Given the description of an element on the screen output the (x, y) to click on. 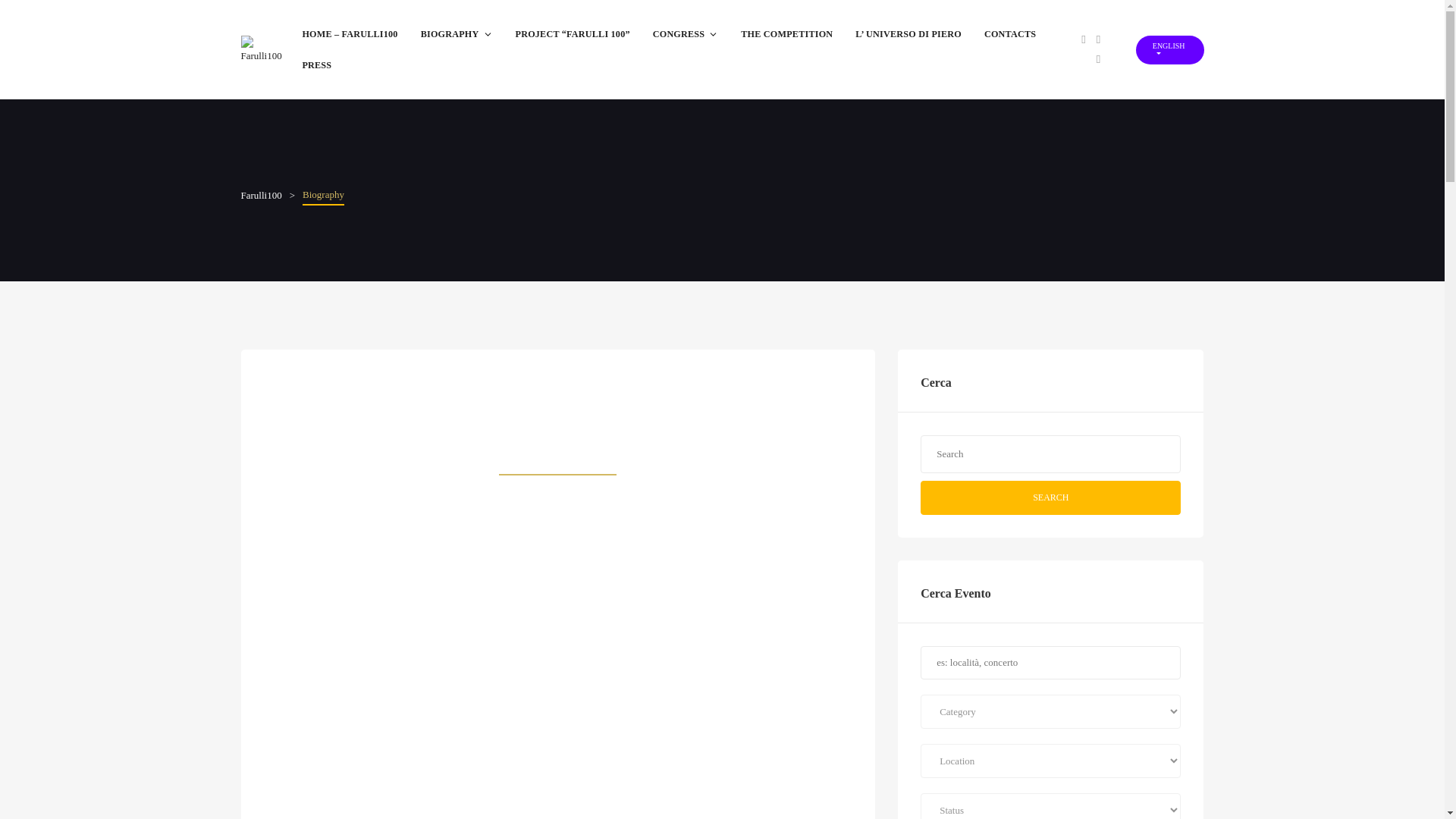
BIOGRAPHY (456, 33)
PRESS (315, 65)
THE COMPETITION (786, 33)
CONGRESS (686, 33)
CONTACTS (1009, 33)
Go to Farulli100. (261, 194)
